Given the description of an element on the screen output the (x, y) to click on. 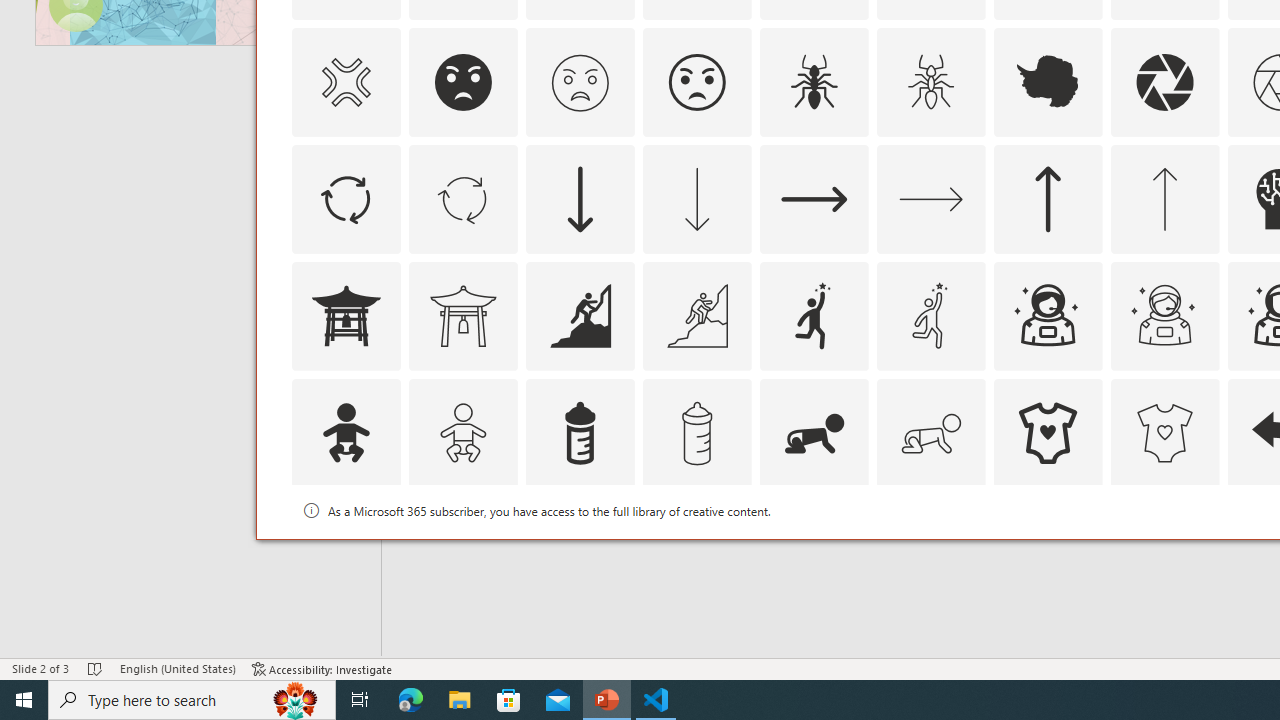
Thumbnail (1204, 511)
AutomationID: Icons_AstronautFemale_M (1164, 316)
AutomationID: Icons_Badge3_M (813, 550)
AutomationID: Icons_ArrowCircle_M (463, 198)
AutomationID: Icons_AngryFace_M (579, 82)
